Given the description of an element on the screen output the (x, y) to click on. 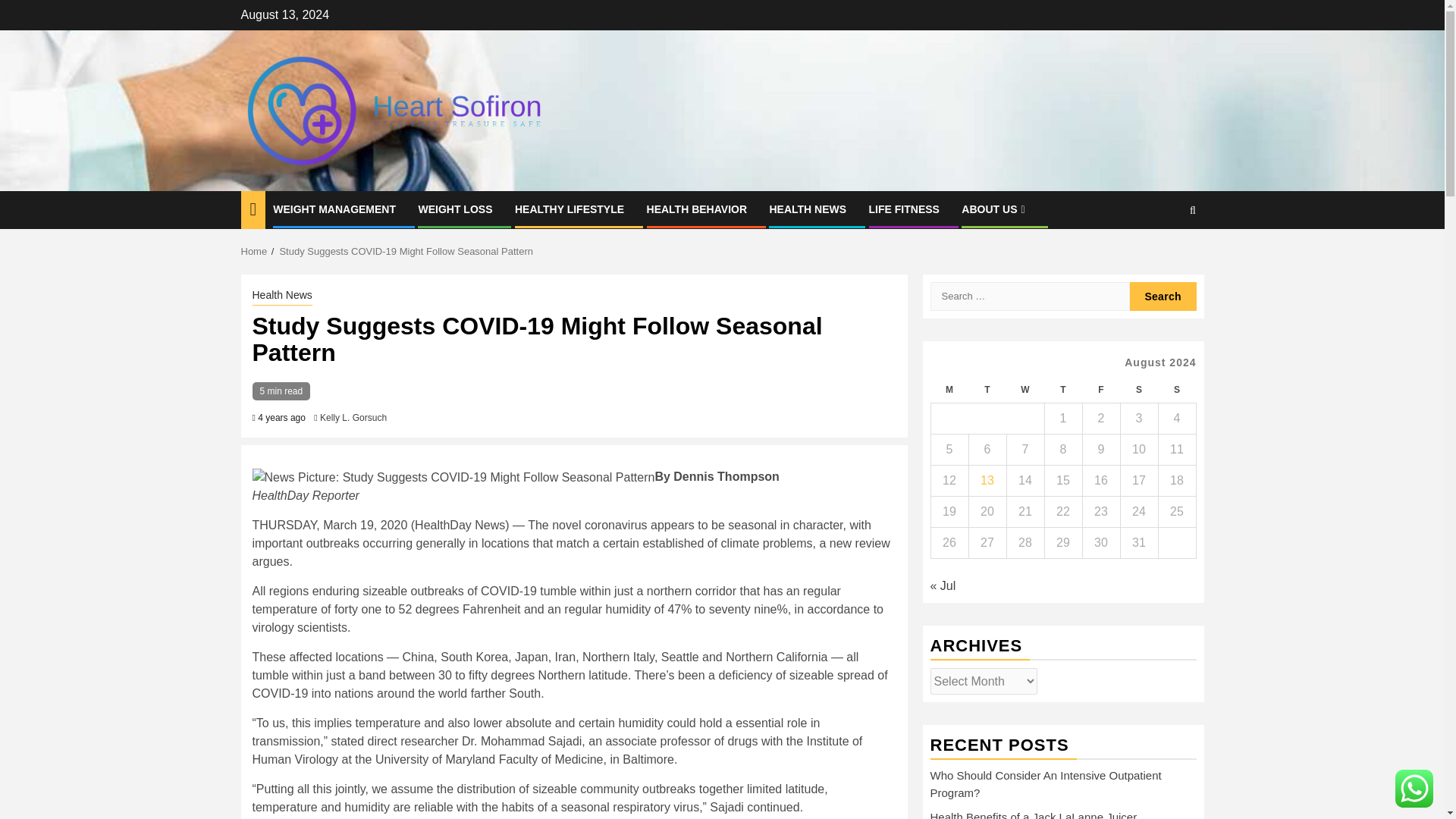
Search (1162, 296)
Health News (281, 296)
HEALTHY LIFESTYLE (569, 209)
Home (254, 251)
Kelly L. Gorsuch (353, 417)
Wednesday (1024, 389)
Search (1163, 256)
Saturday (1138, 389)
WEIGHT LOSS (454, 209)
HEALTH BEHAVIOR (696, 209)
